Given the description of an element on the screen output the (x, y) to click on. 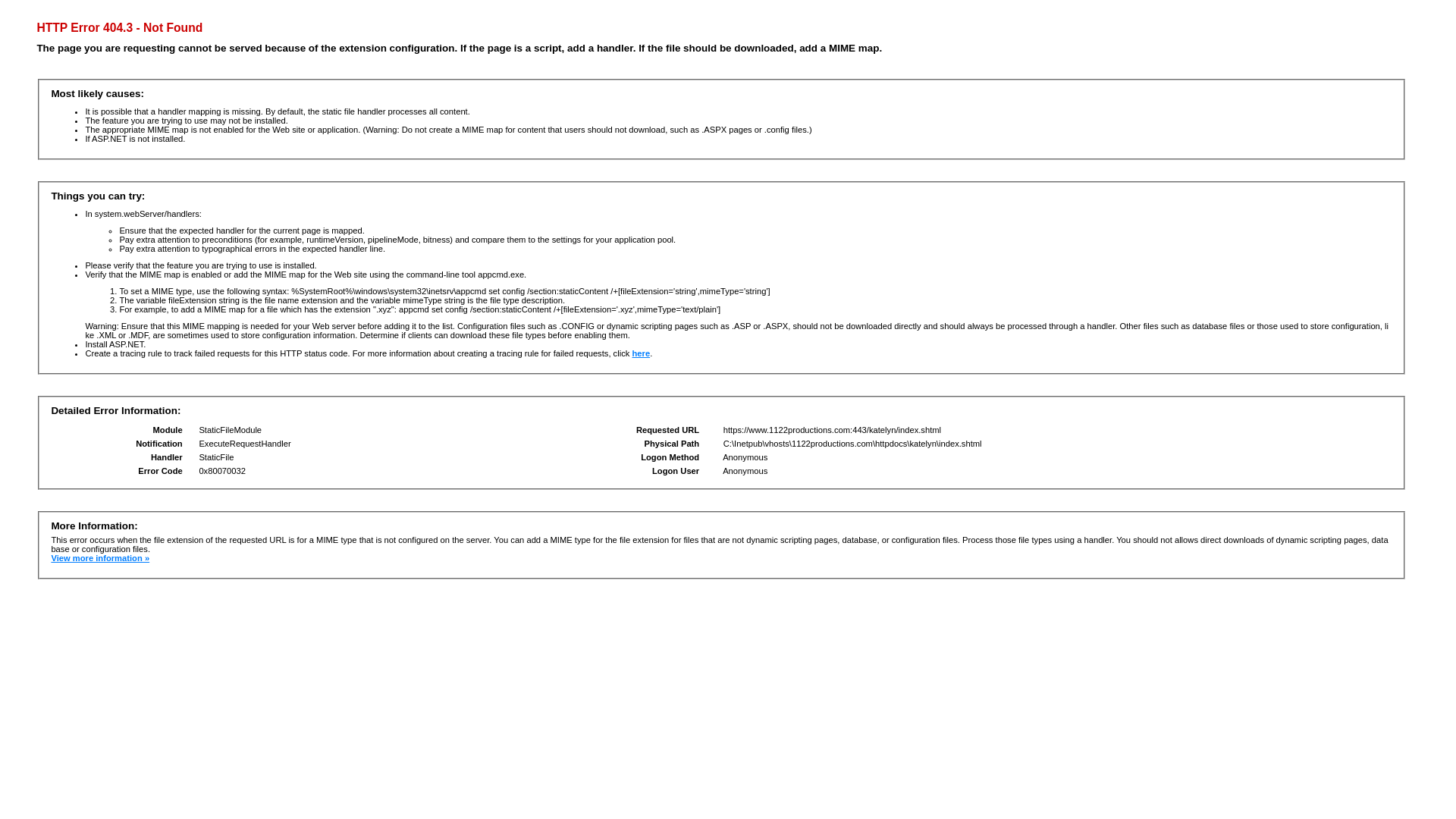
here Element type: text (640, 352)
